Given the description of an element on the screen output the (x, y) to click on. 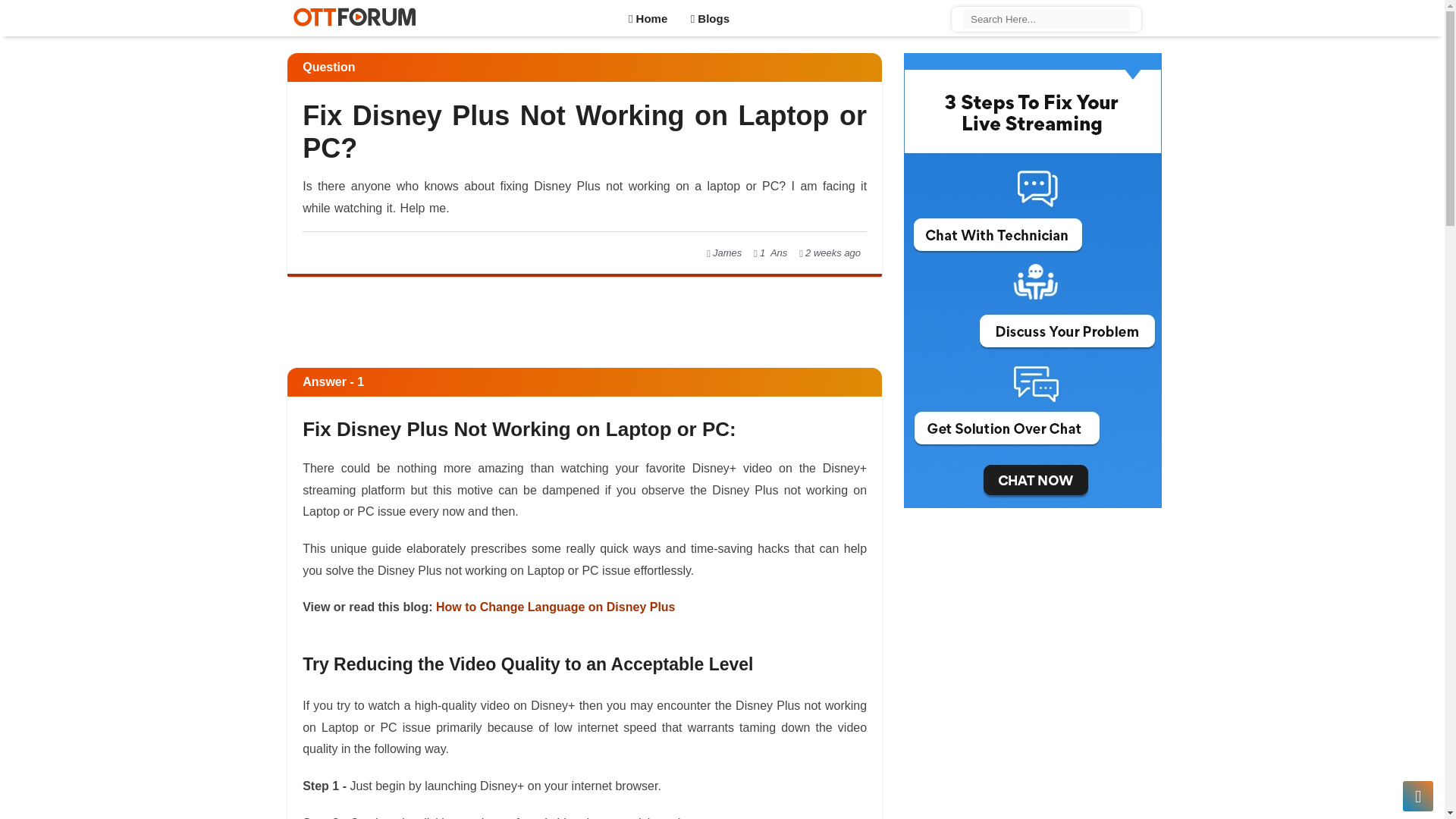
Home (647, 16)
Blogs (710, 16)
How to Change Language on Disney Plus (555, 606)
3rd party ad content (584, 333)
